Given the description of an element on the screen output the (x, y) to click on. 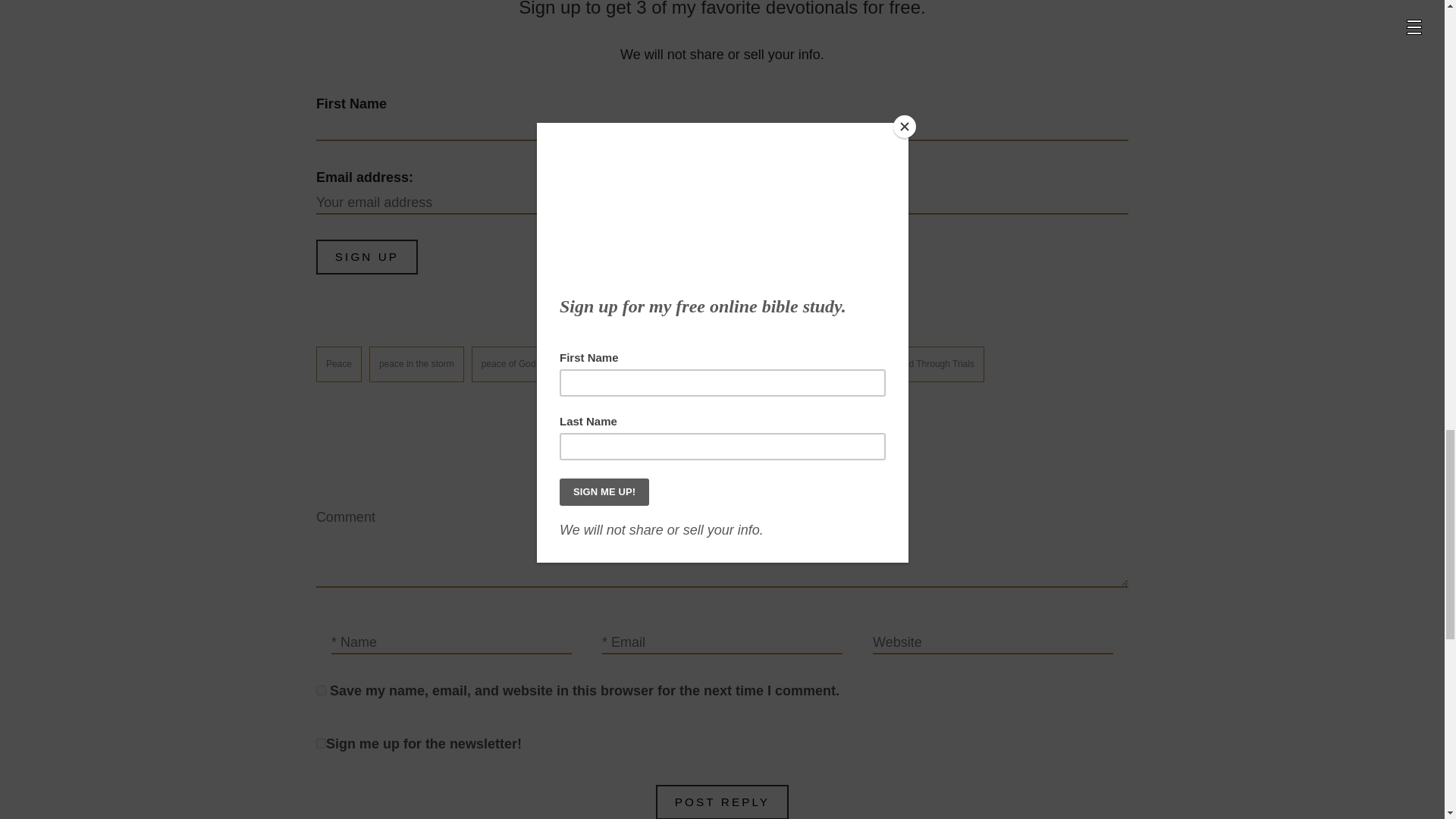
trusting God (588, 363)
yes (320, 690)
trusting God in chaos (682, 363)
Post Reply (722, 801)
Sign up (366, 256)
Sign up (366, 256)
1 (320, 743)
Trusting God Through Trials (917, 363)
Peace (338, 363)
trusting God in trials (793, 363)
